Given the description of an element on the screen output the (x, y) to click on. 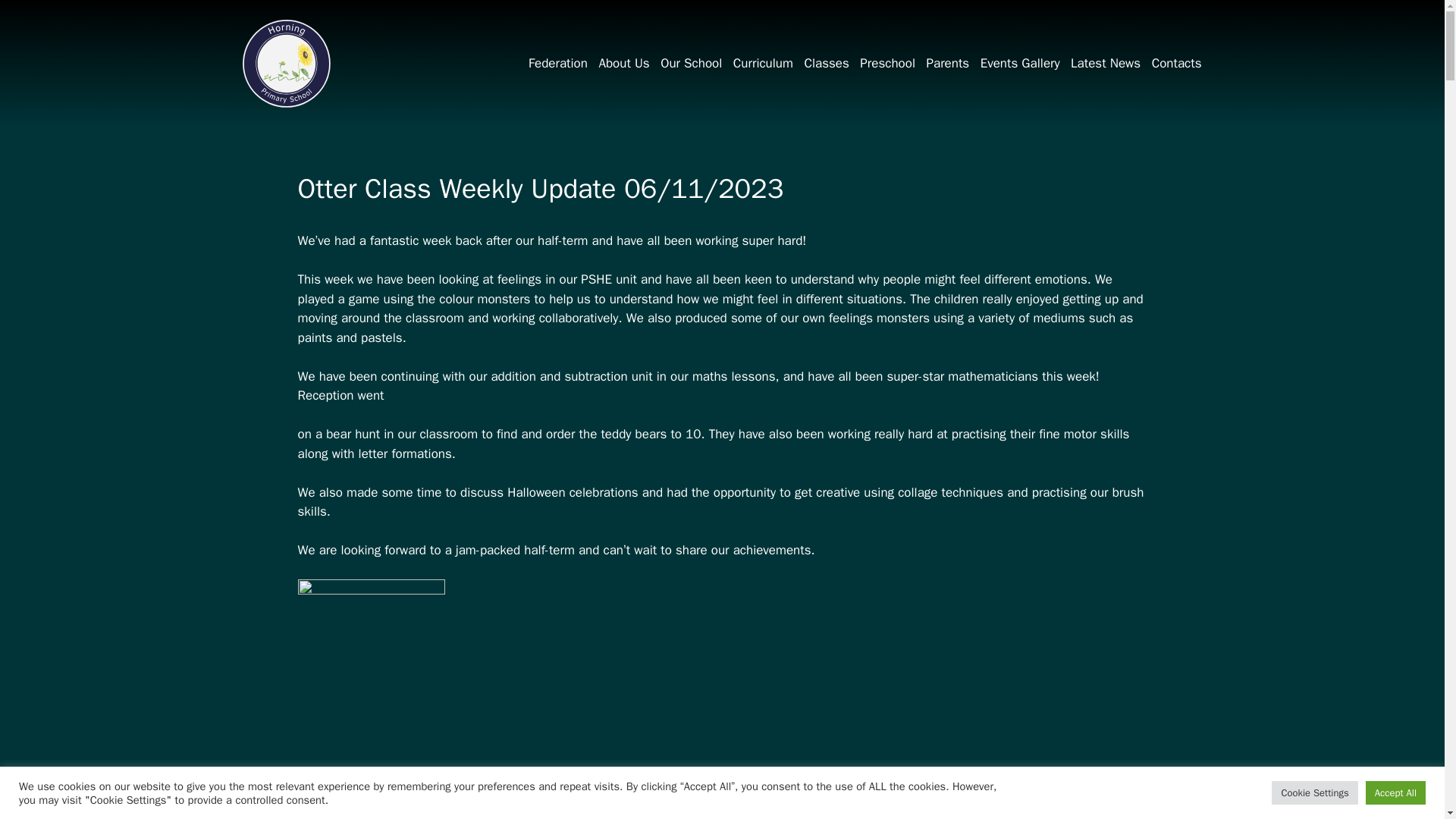
Our School (690, 63)
Curriculum (762, 63)
Parents (947, 63)
Classes (826, 63)
Events Gallery (1020, 63)
Federation (557, 63)
Contacts (1177, 63)
Preschool (887, 63)
Latest News (1105, 63)
About Us (622, 63)
